Given the description of an element on the screen output the (x, y) to click on. 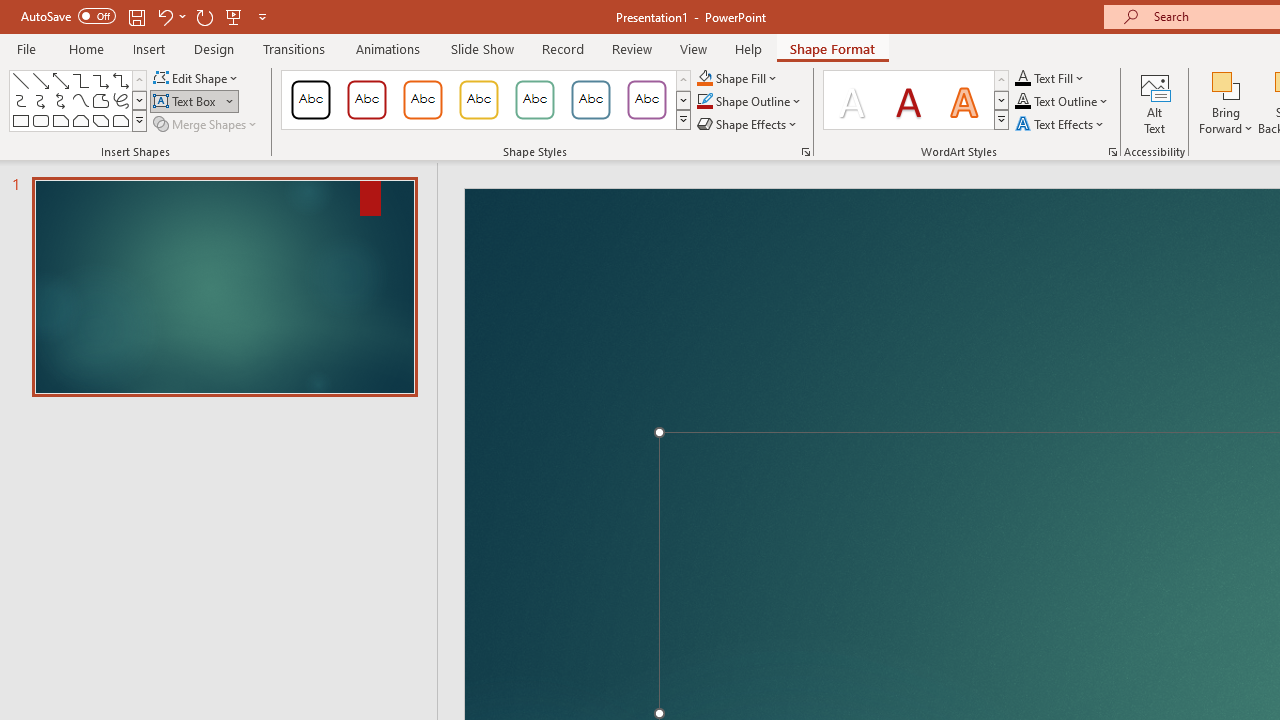
Fill: Dark Red, Accent color 1; Shadow (908, 100)
Connector: Curved (20, 100)
Connector: Curved Arrow (40, 100)
Text Fill (1050, 78)
Connector: Elbow Double-Arrow (120, 80)
Draw Horizontal Text Box (185, 101)
